Given the description of an element on the screen output the (x, y) to click on. 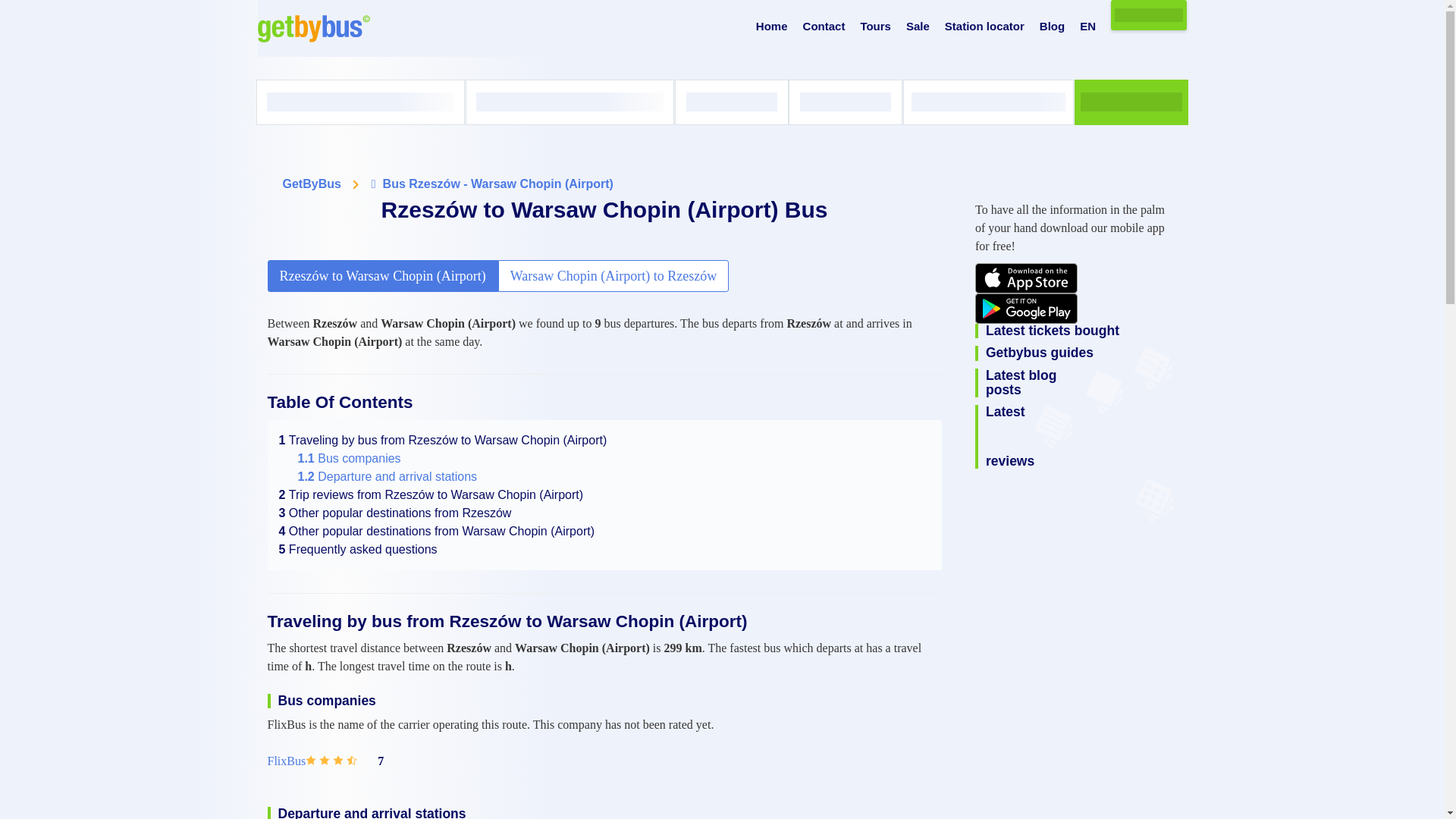
Frequently asked questions (358, 549)
GetByBus (311, 183)
Departure and arrival stations (387, 476)
Station locator (984, 26)
FlixBus (285, 761)
 GetByBus (311, 183)
Bus companies (348, 458)
